Given the description of an element on the screen output the (x, y) to click on. 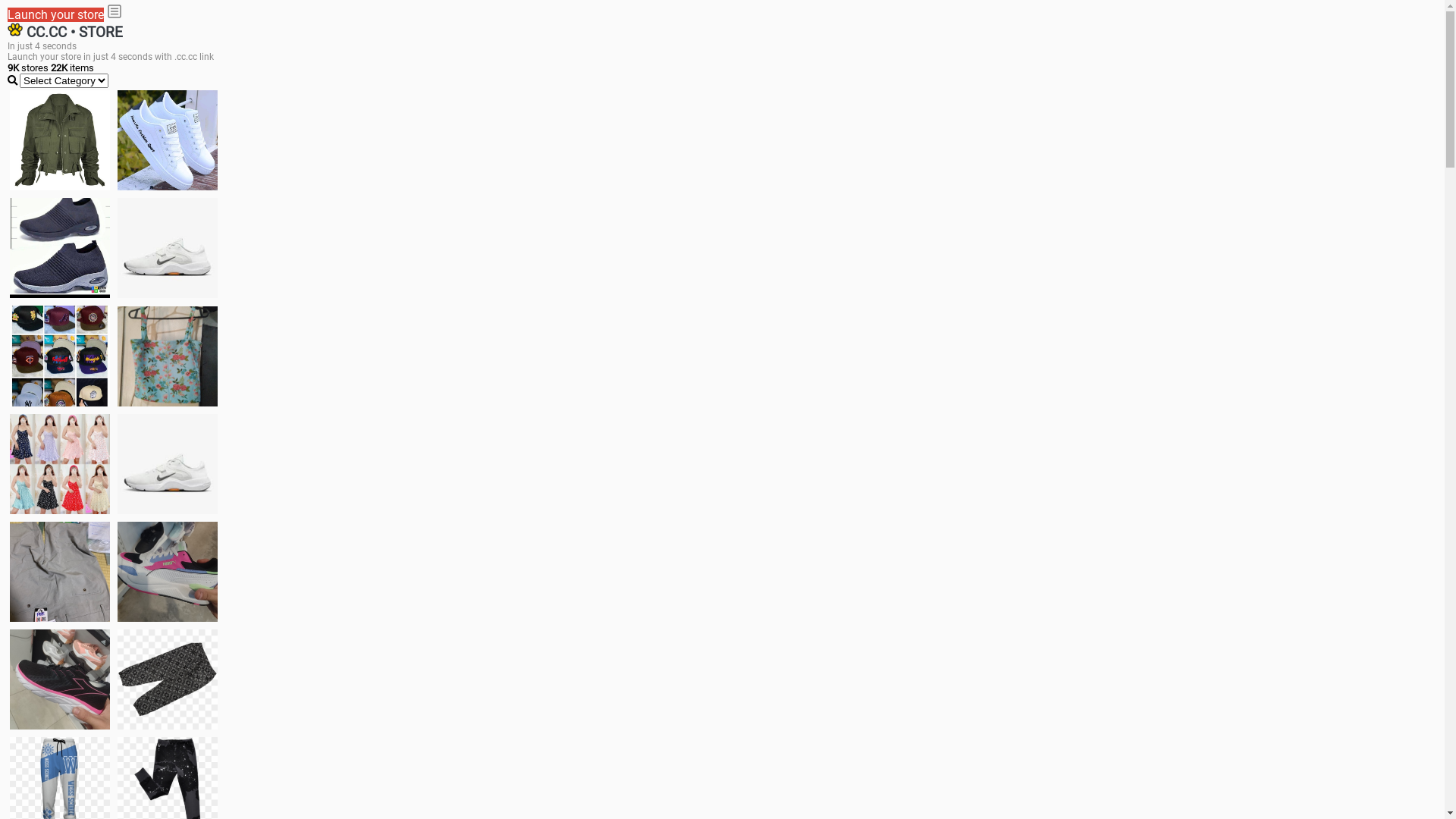
Shoes for boys Element type: hover (167, 247)
shoes for boys Element type: hover (59, 247)
Dress/square nect top Element type: hover (59, 464)
Short pant Element type: hover (167, 679)
Zapatillas pumas Element type: hover (167, 571)
Ukay cloth Element type: hover (167, 356)
Shoes Element type: hover (167, 464)
Things we need Element type: hover (59, 355)
jacket Element type: hover (59, 140)
white shoes Element type: hover (167, 140)
Launch your store Element type: text (55, 14)
Zapatillas Element type: hover (59, 679)
